Given the description of an element on the screen output the (x, y) to click on. 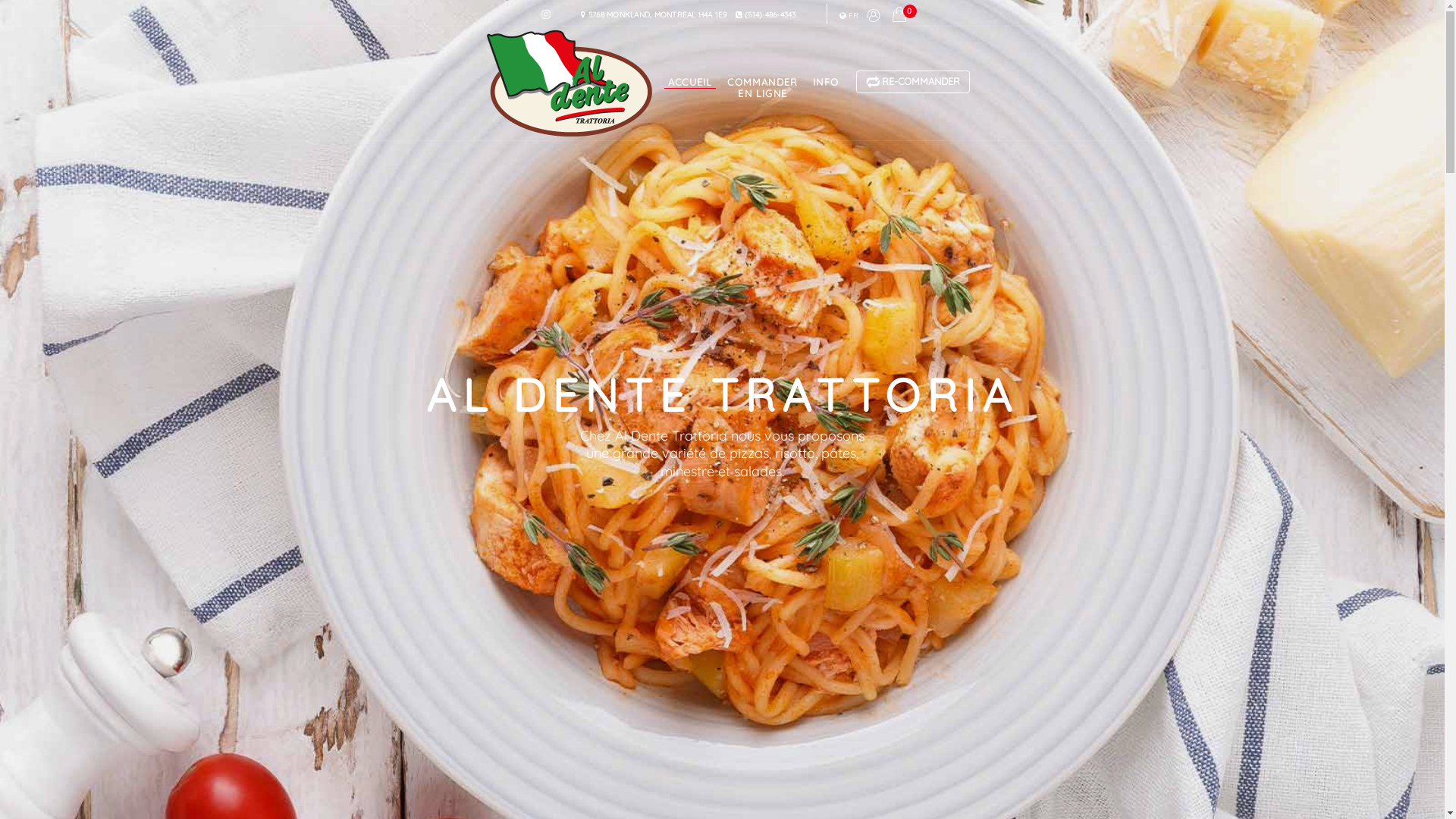
(514) 486-4343 Element type: text (765, 22)
INFO Element type: text (825, 56)
ACCUEIL Element type: text (689, 57)
0 Element type: text (898, 16)
RE-COMMANDER Element type: text (912, 81)
FR Element type: text (848, 16)
COMMANDER EN LIGNE Element type: text (762, 62)
